Given the description of an element on the screen output the (x, y) to click on. 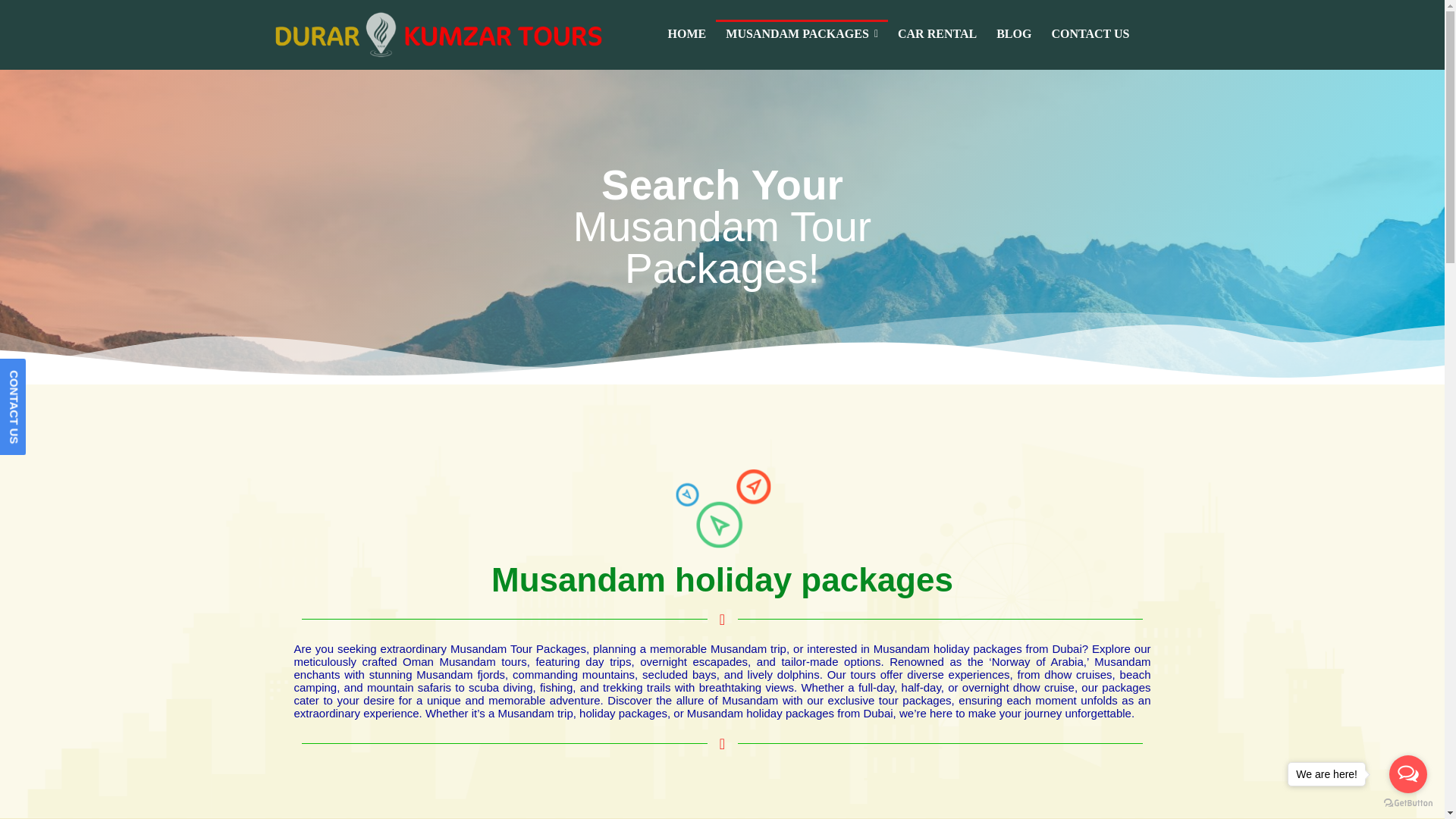
CAR RENTAL (937, 34)
BLOG (1014, 34)
CONTACT US (1089, 34)
MUSANDAM PACKAGES (802, 34)
HOME (687, 34)
